Given the description of an element on the screen output the (x, y) to click on. 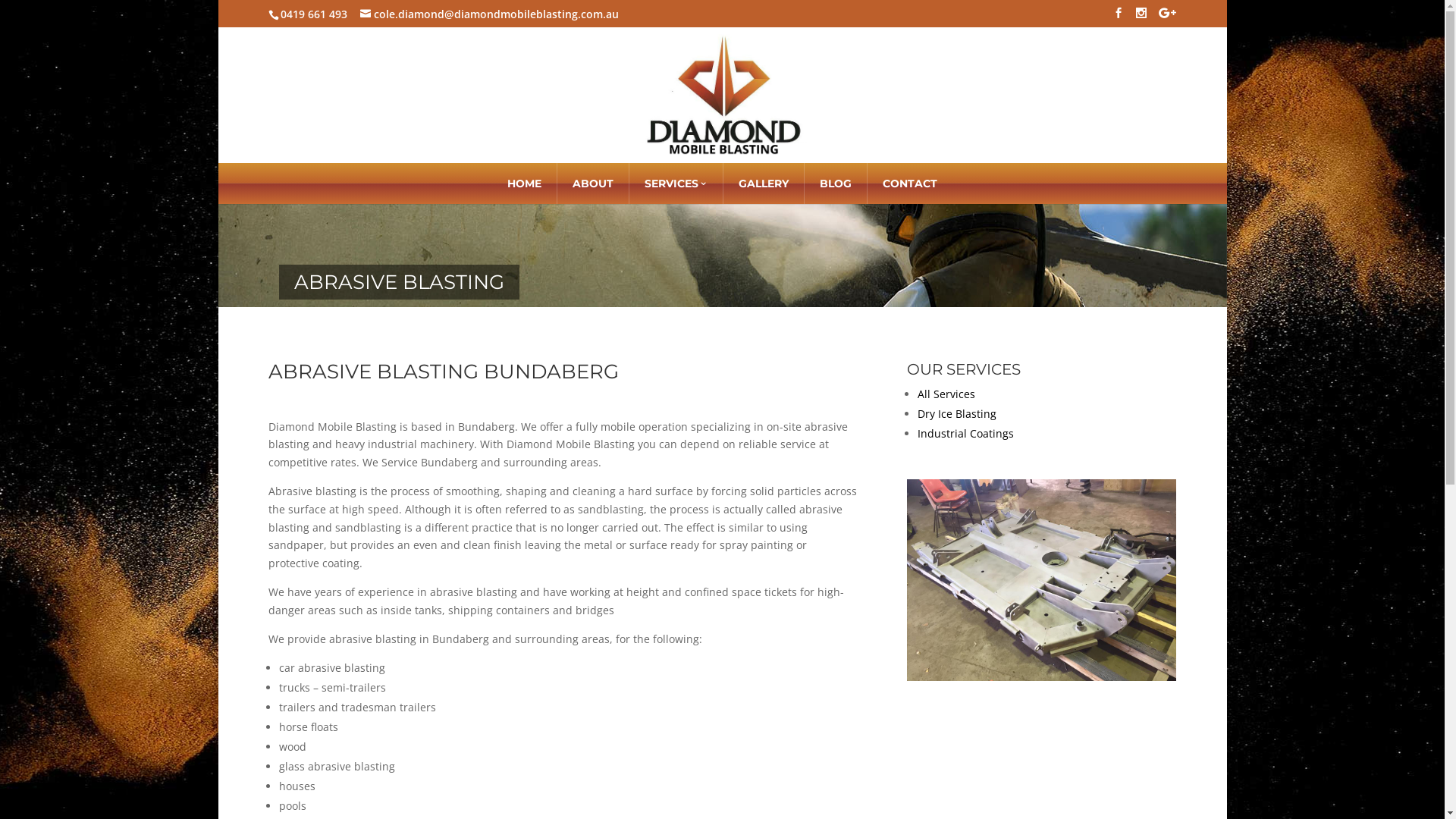
Dry Ice Blasting Element type: text (956, 413)
HOME Element type: text (524, 183)
ABOUT Element type: text (592, 183)
All Services Element type: text (946, 393)
Industrial Coatings Element type: text (965, 433)
0419 661 493 Element type: text (314, 13)
SERVICES Element type: text (675, 183)
BLOG Element type: text (835, 183)
mobile blasting in Bundaberg Element type: hover (1041, 676)
GALLERY Element type: text (763, 183)
cole.diamond@diamondmobileblasting.com.au Element type: text (489, 13)
CONTACT Element type: text (909, 183)
